Given the description of an element on the screen output the (x, y) to click on. 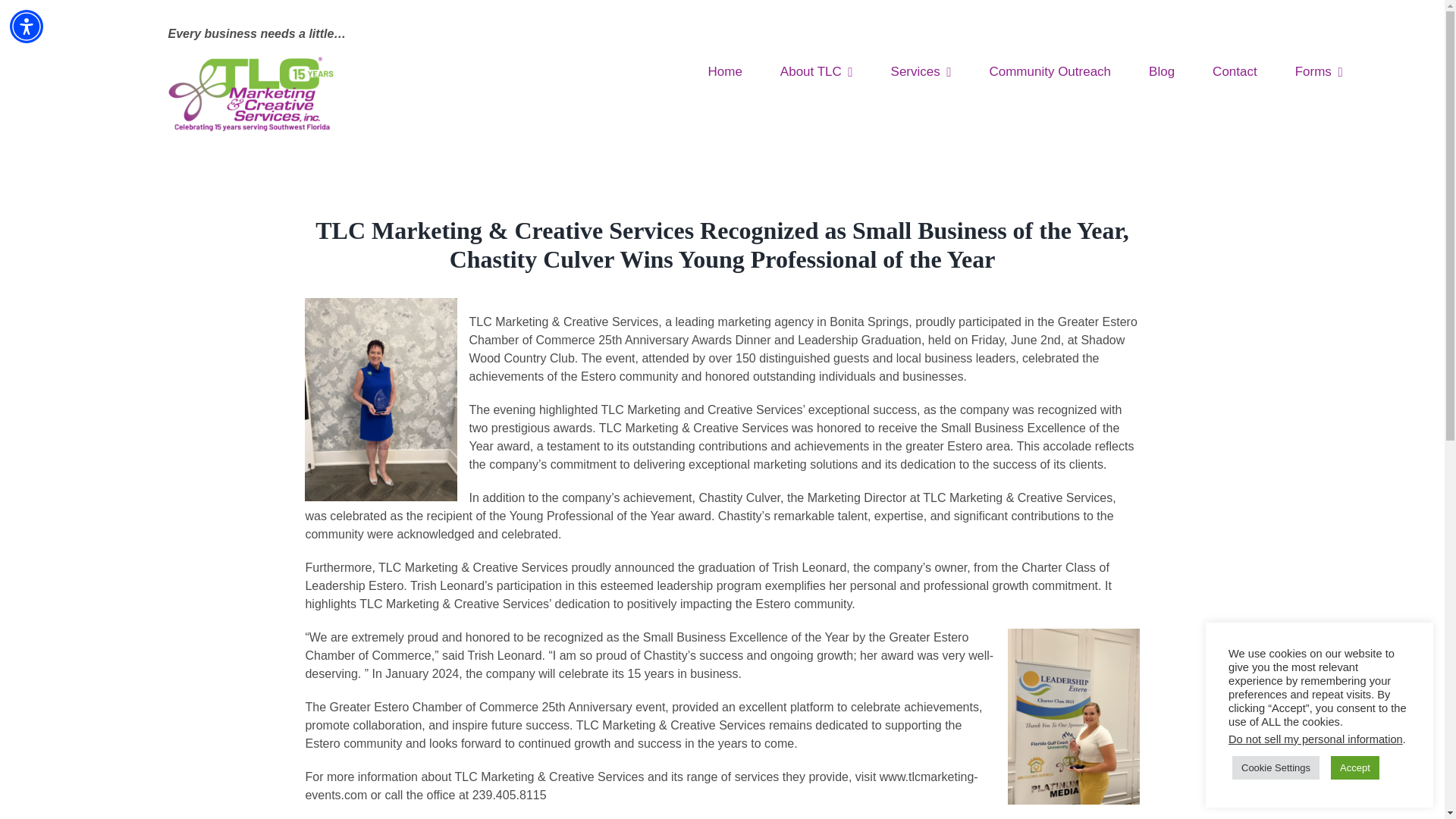
Community Outreach (1049, 71)
About TLC (816, 71)
Accessibility Menu (26, 26)
Services (921, 71)
Forms (1318, 71)
